Given the description of an element on the screen output the (x, y) to click on. 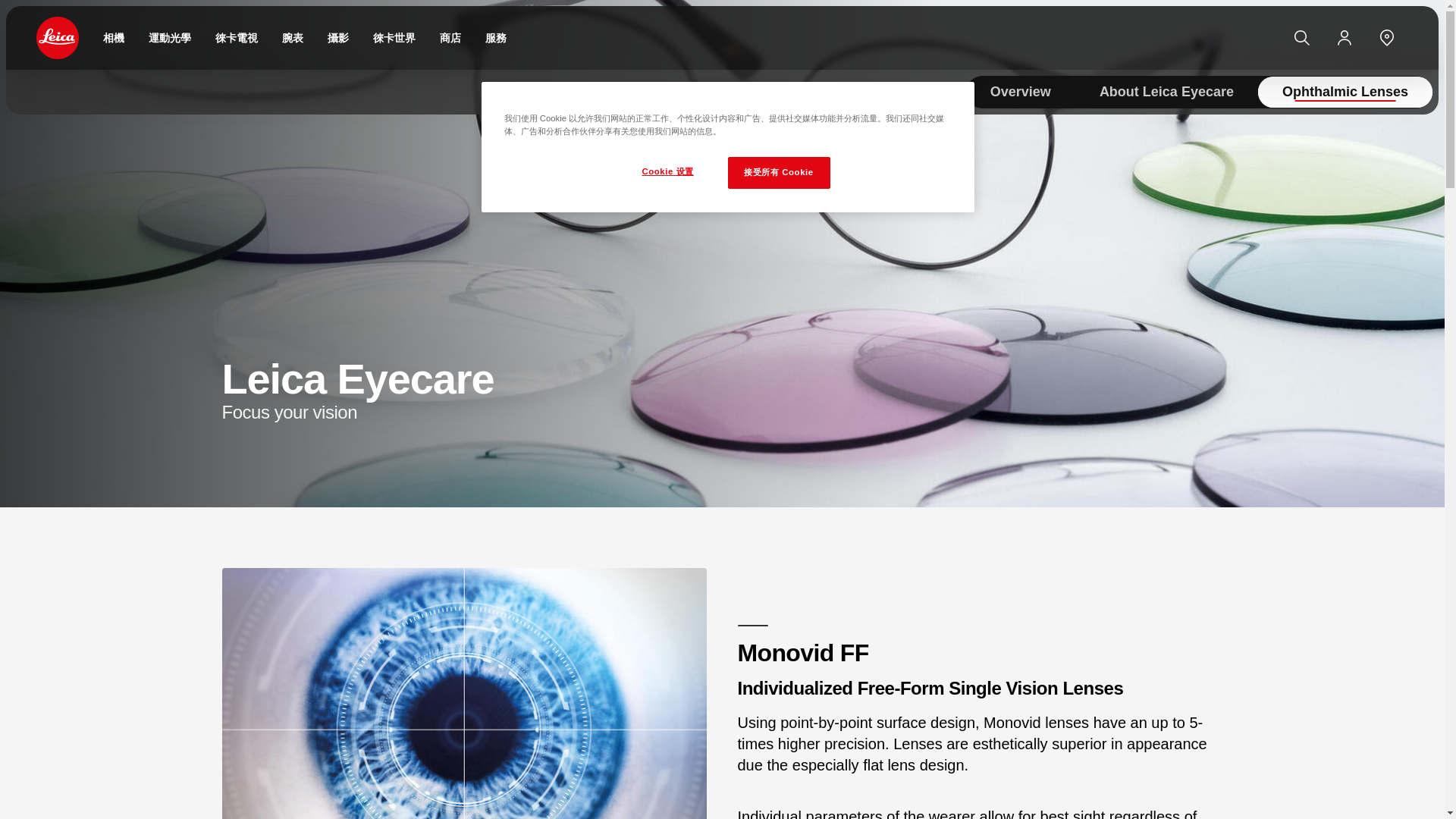
Ophthalmic Lenses (1344, 91)
About Leica Eyecare (1166, 92)
Open menu (8, 5)
Overview (1020, 92)
